Given the description of an element on the screen output the (x, y) to click on. 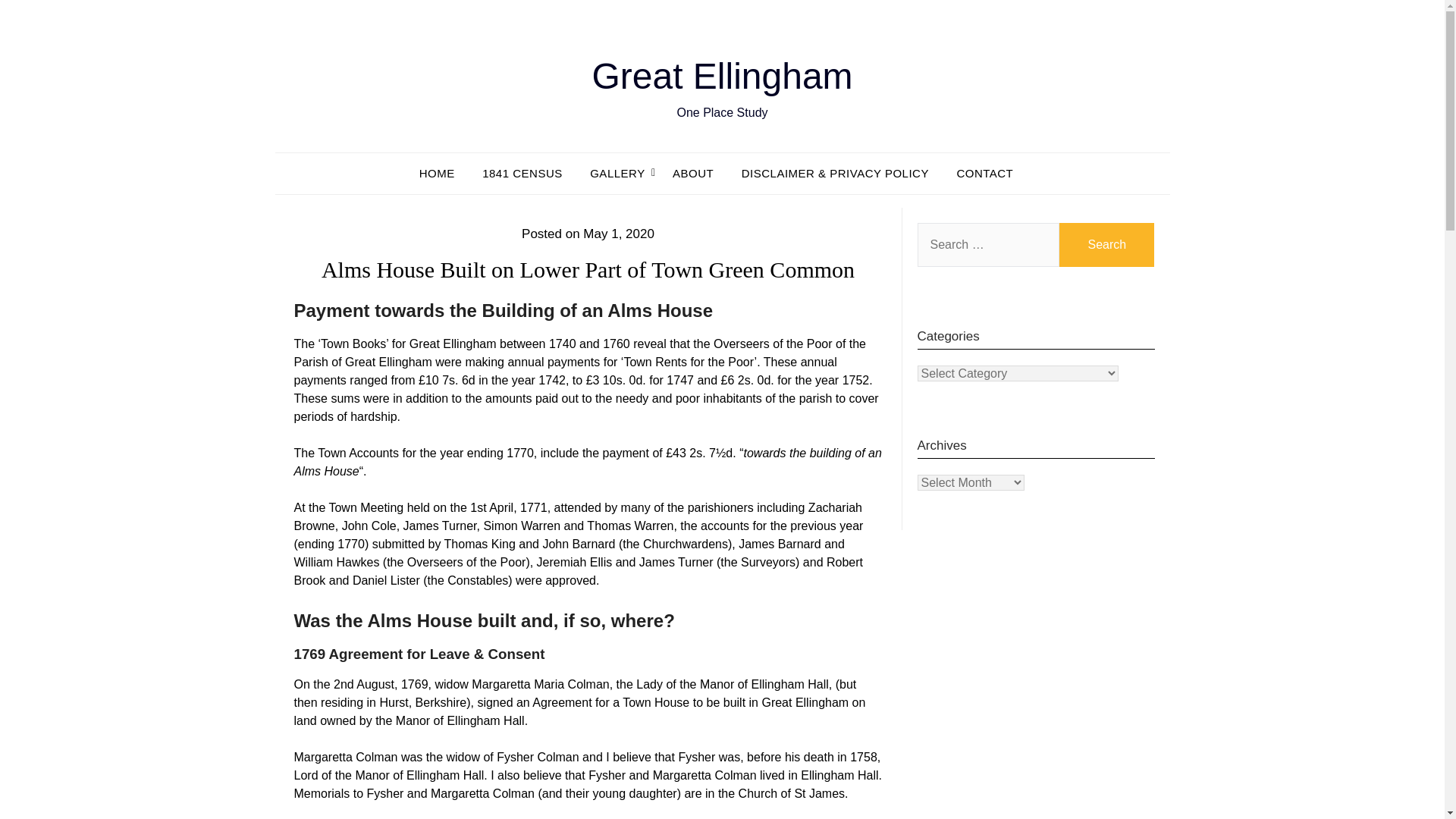
May 1, 2020 (618, 233)
GALLERY (617, 173)
1841 CENSUS (522, 173)
Search (1106, 244)
Great Ellingham (721, 76)
ABOUT (693, 173)
CONTACT (984, 173)
Search (1106, 244)
HOME (443, 173)
Search (1106, 244)
